Given the description of an element on the screen output the (x, y) to click on. 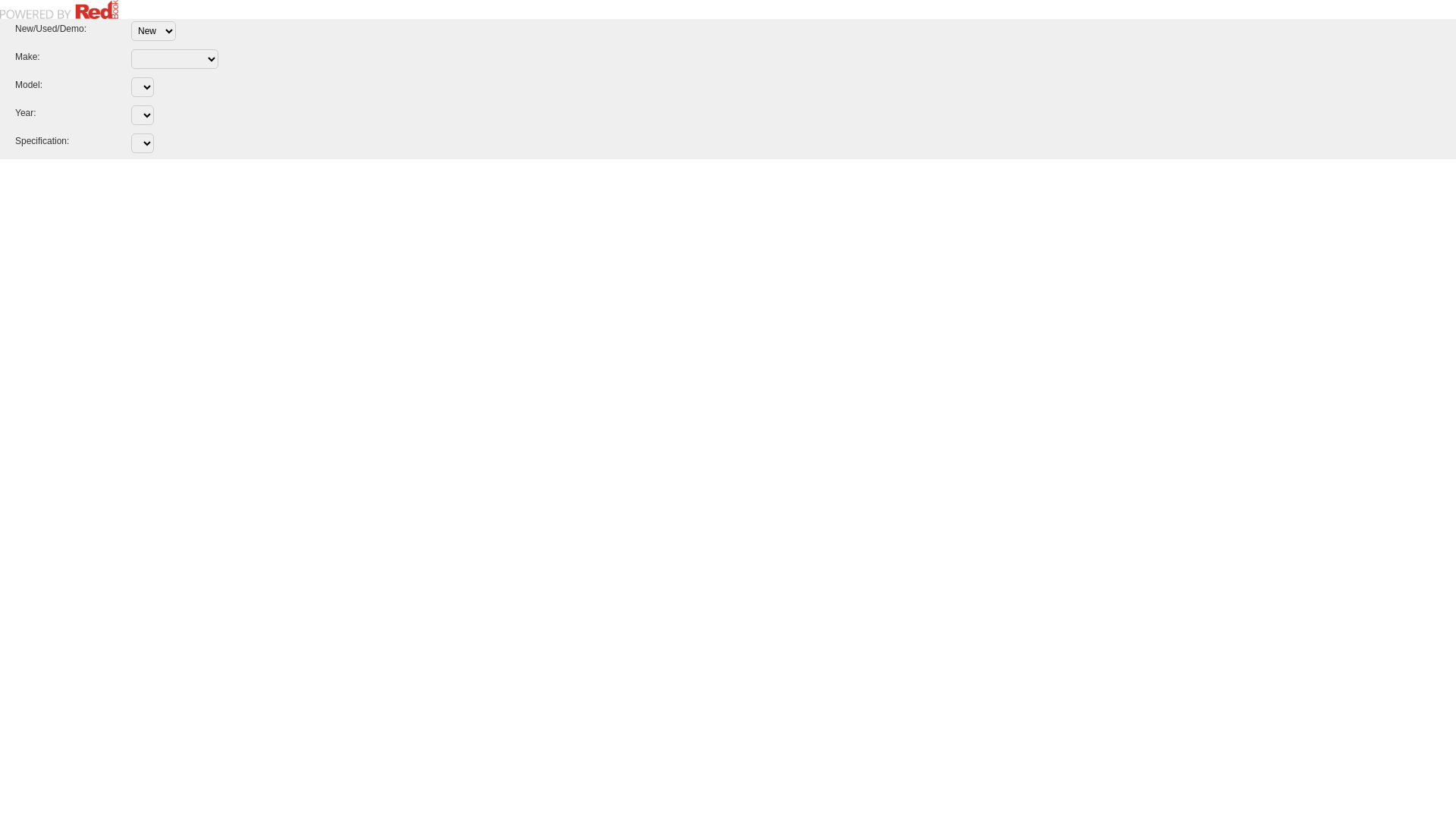
Red Book Element type: hover (59, 9)
